Given the description of an element on the screen output the (x, y) to click on. 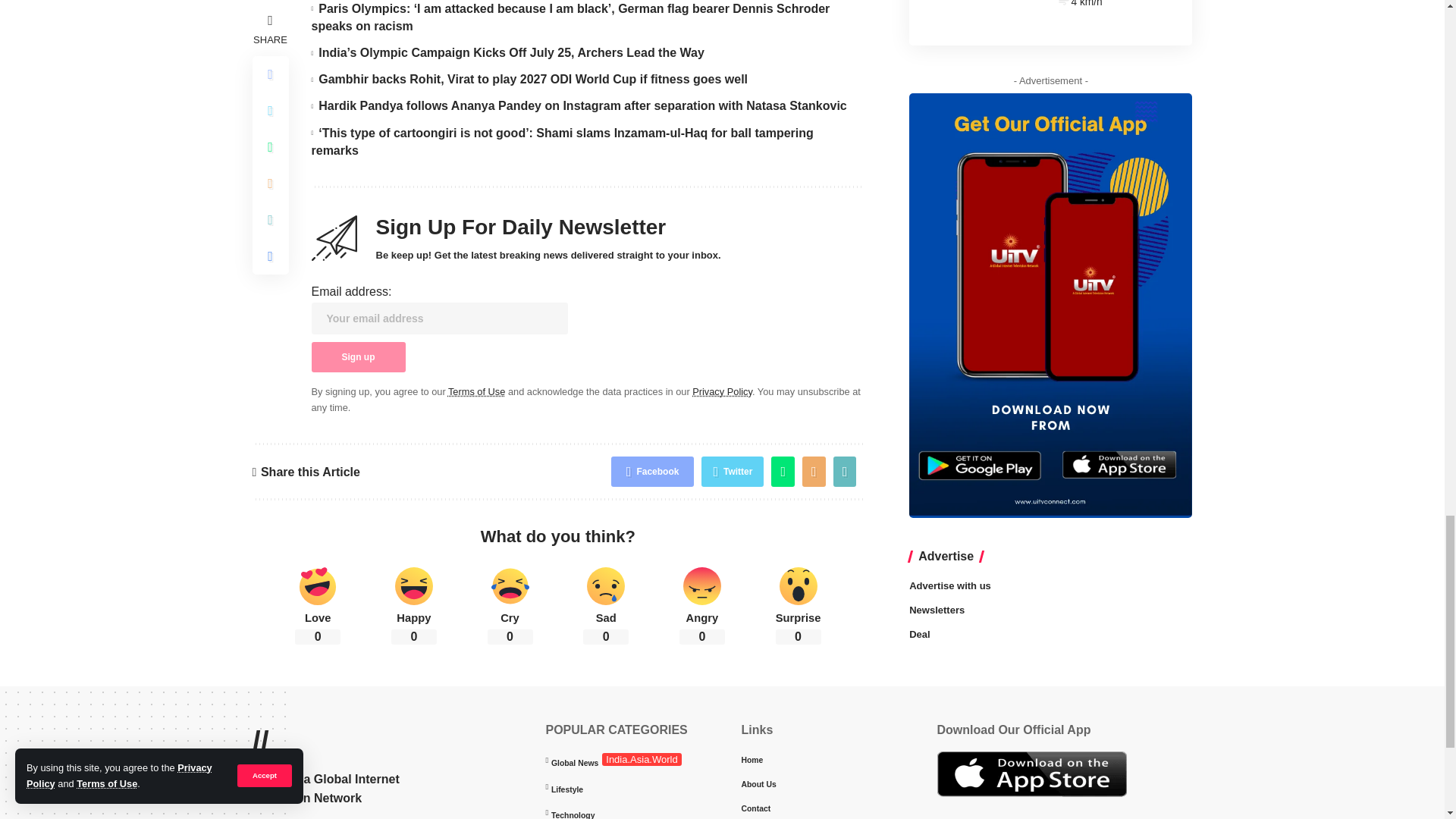
Sign up (357, 357)
